Given the description of an element on the screen output the (x, y) to click on. 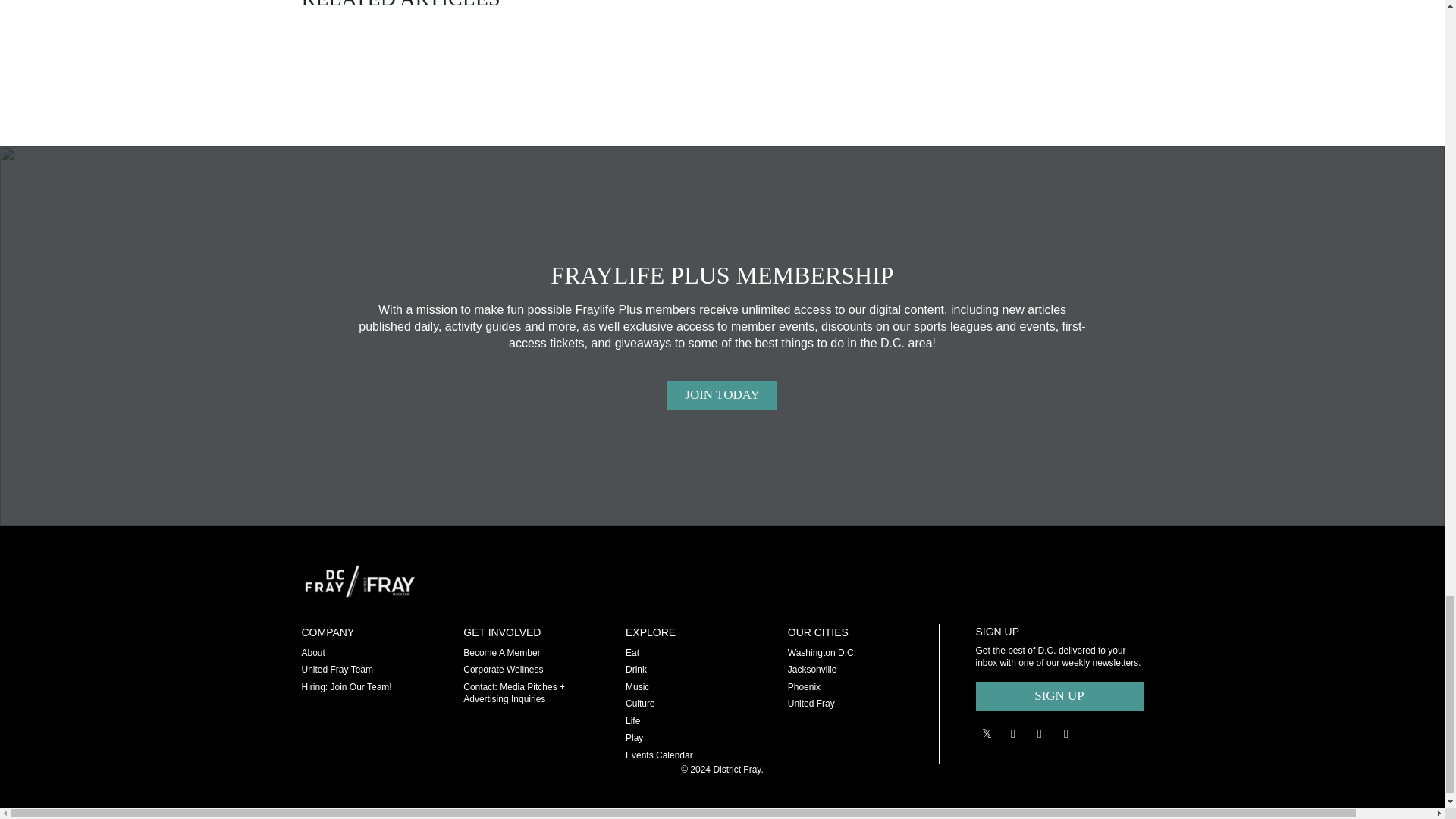
linkedin Share (1066, 734)
Facebook share (1038, 734)
Google Plus Share (1014, 734)
Twitter share (986, 734)
